Given the description of an element on the screen output the (x, y) to click on. 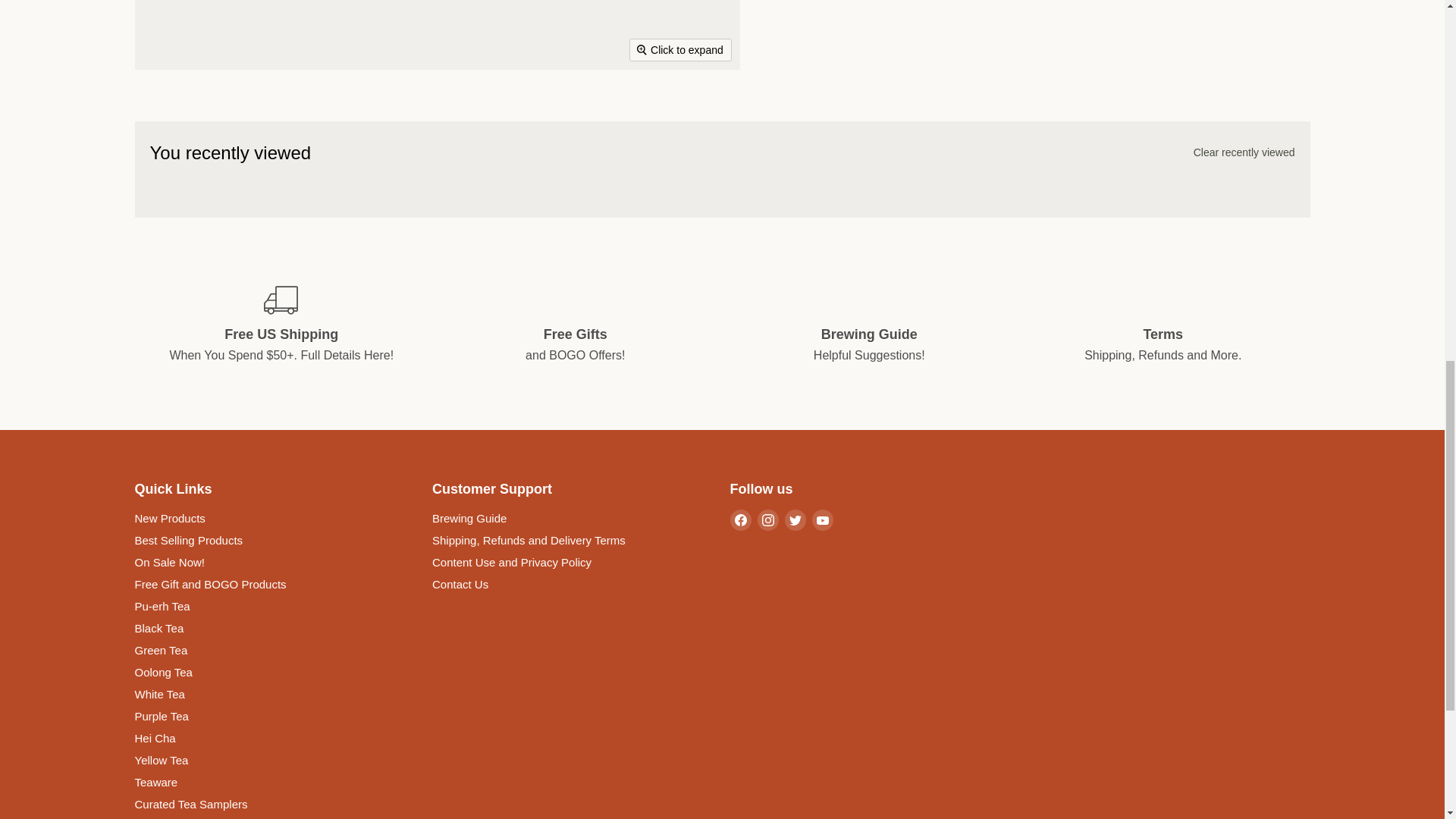
Instagram (767, 519)
YouTube (821, 519)
Facebook (740, 519)
Twitter (794, 519)
